Given the description of an element on the screen output the (x, y) to click on. 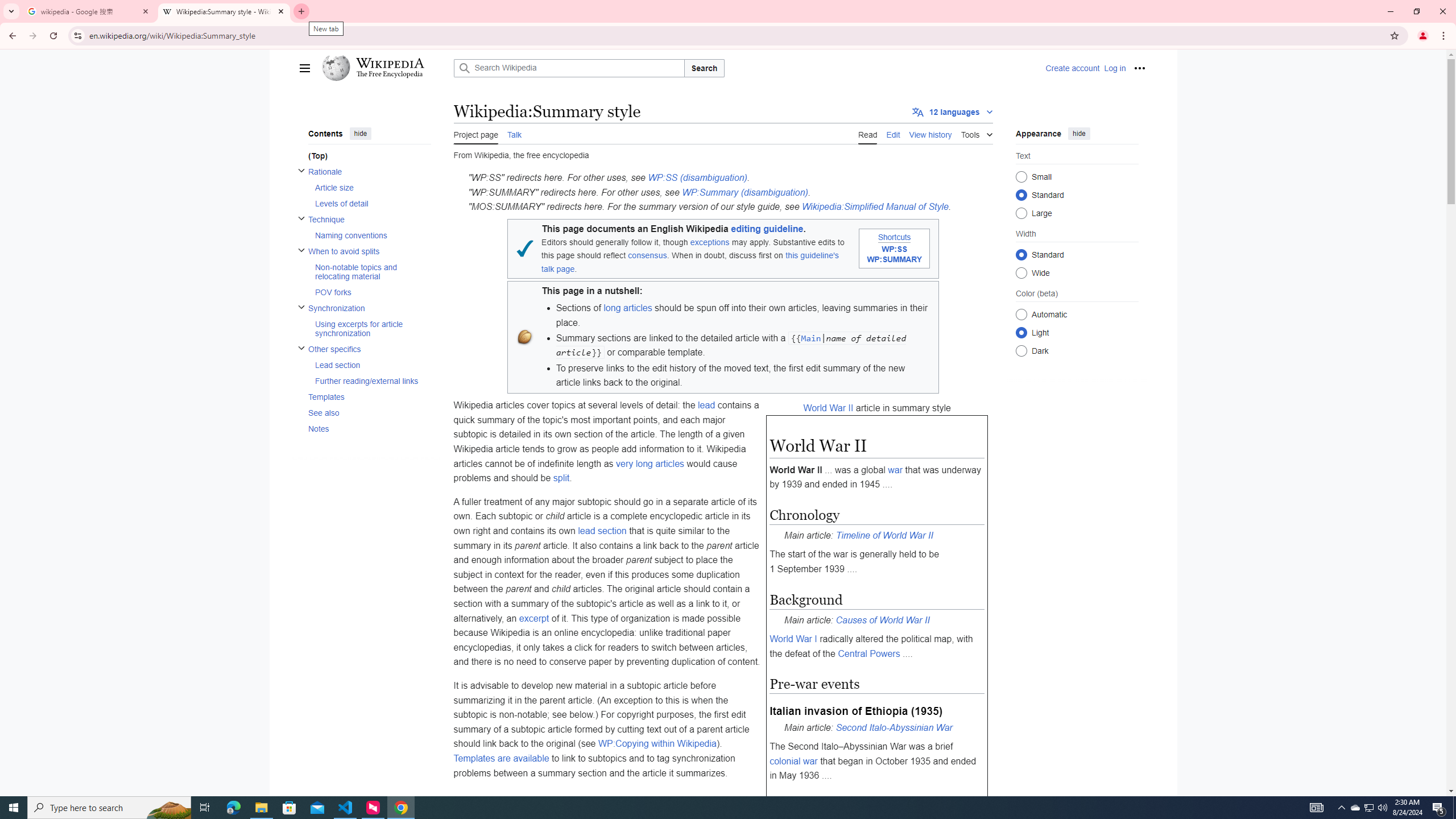
POV forks (372, 292)
Levels of detail (372, 202)
View history (930, 133)
AutomationID: toc-Technique (365, 227)
See also (368, 412)
lead section (602, 530)
Central Powers (868, 653)
Further reading/external links (372, 380)
AutomationID: toc-See_also (365, 412)
Automatic (1020, 313)
